Given the description of an element on the screen output the (x, y) to click on. 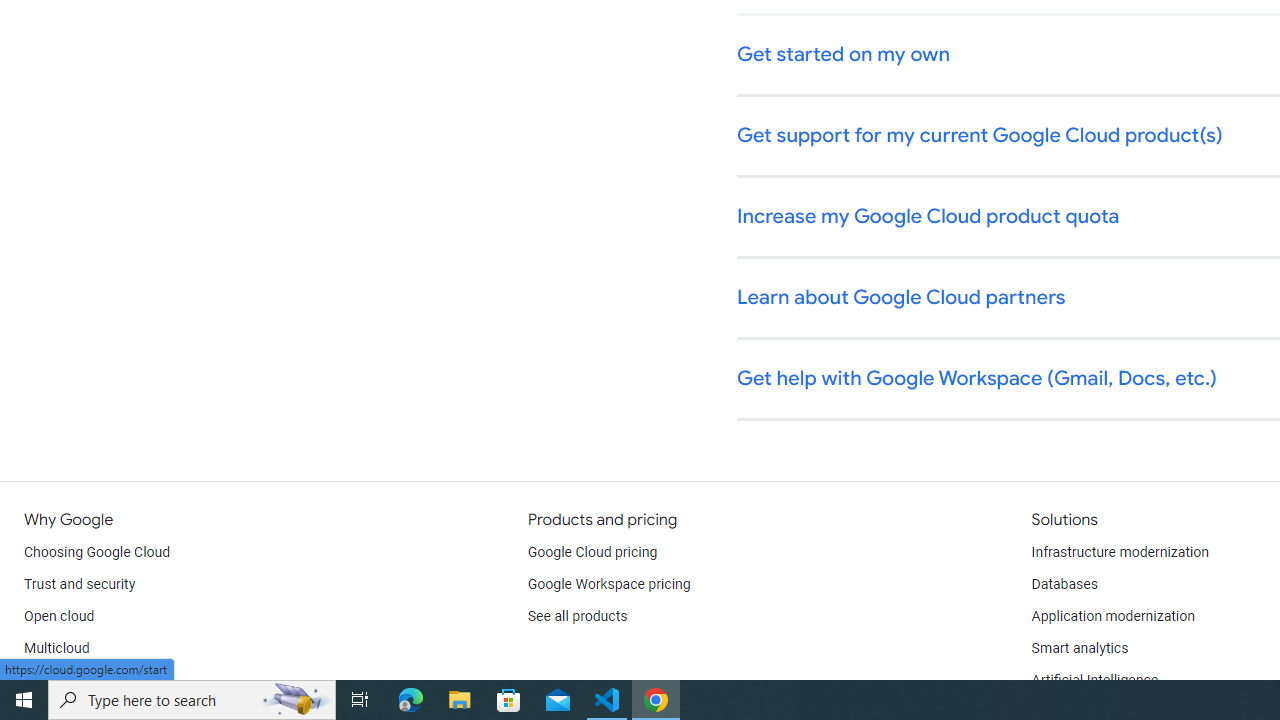
Trust and security (79, 584)
Databases (1064, 584)
Choosing Google Cloud (97, 552)
Global infrastructure (88, 680)
Infrastructure modernization (1119, 552)
Google Workspace pricing (609, 584)
Application modernization (1112, 616)
Google Cloud pricing (592, 552)
Artificial Intelligence (1094, 680)
See all products (577, 616)
Open cloud (59, 616)
Multicloud (56, 648)
Smart analytics (1079, 648)
